Given the description of an element on the screen output the (x, y) to click on. 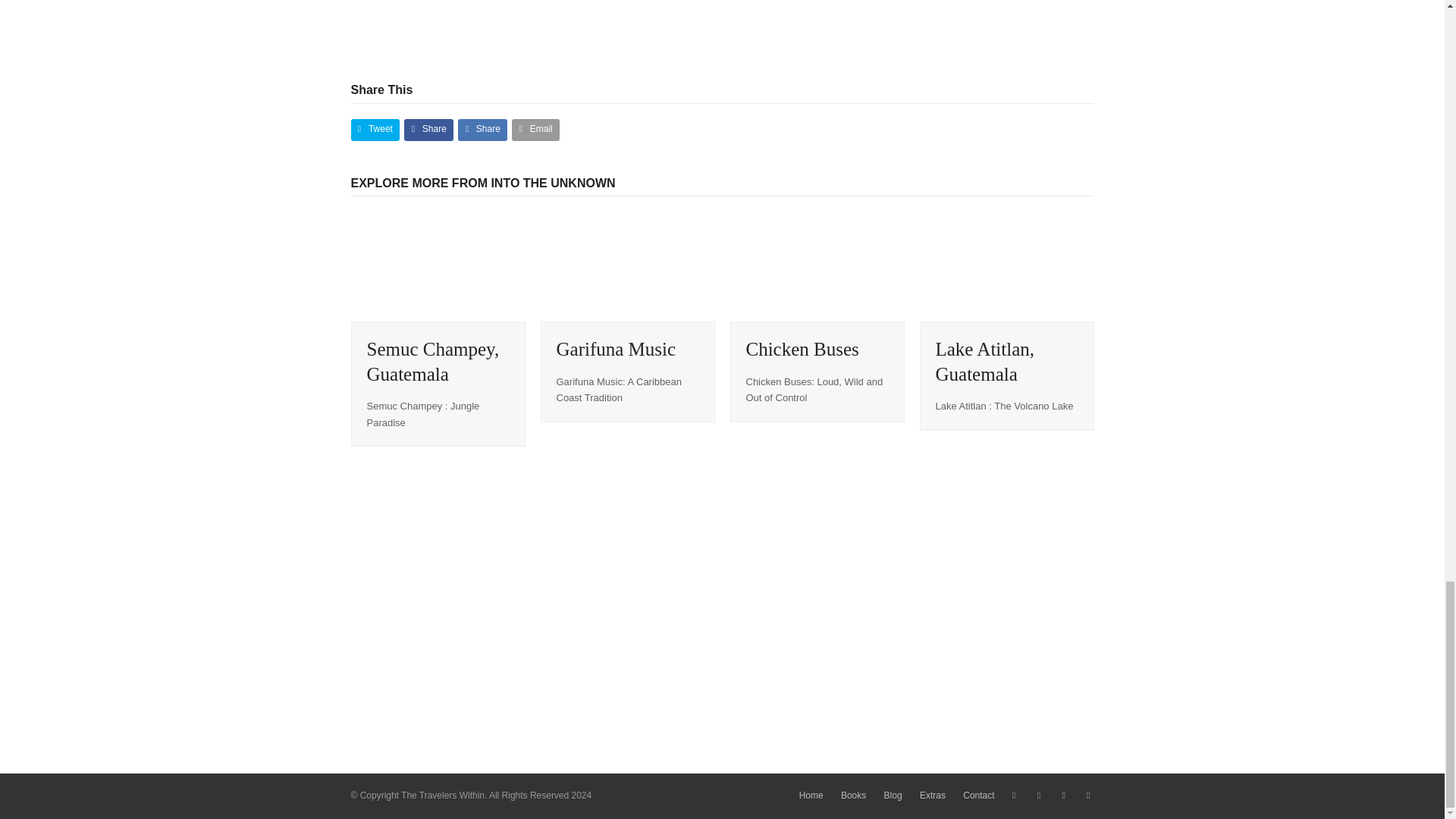
Email (535, 129)
Semuc Champey, Guatemala (432, 361)
Chicken Buses (816, 265)
Garifuna Music (616, 349)
Tweet (374, 129)
Semuc Champey, Guatemala (437, 265)
Lake Atitlan, Guatemala (1005, 265)
Share (482, 129)
Share (428, 129)
Chicken Buses (802, 349)
